Given the description of an element on the screen output the (x, y) to click on. 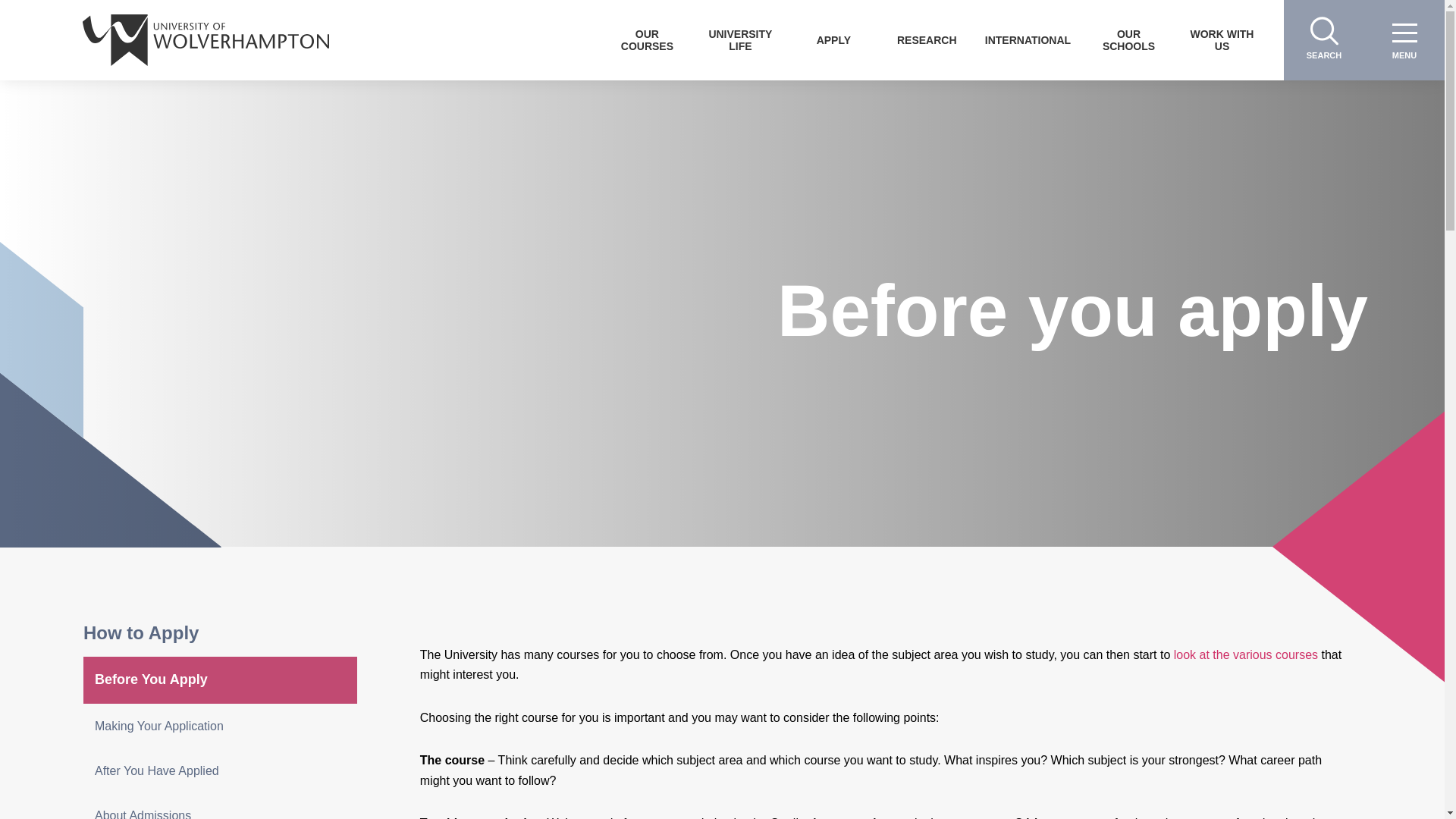
University of Wolverhampton Home (205, 39)
Our Courses (646, 40)
OUR COURSES (646, 40)
